Given the description of an element on the screen output the (x, y) to click on. 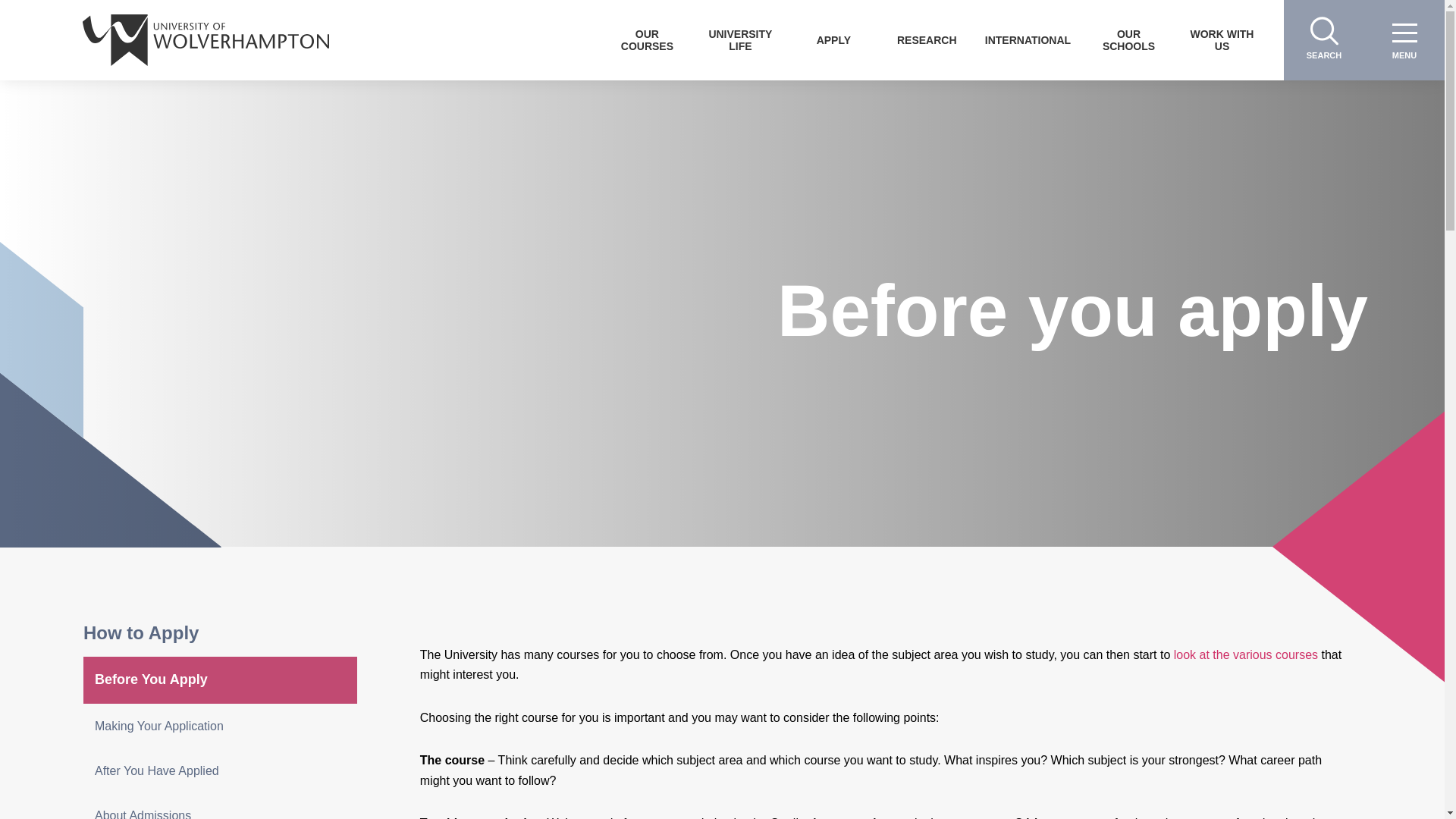
University of Wolverhampton Home (205, 39)
Our Courses (646, 40)
OUR COURSES (646, 40)
